Given the description of an element on the screen output the (x, y) to click on. 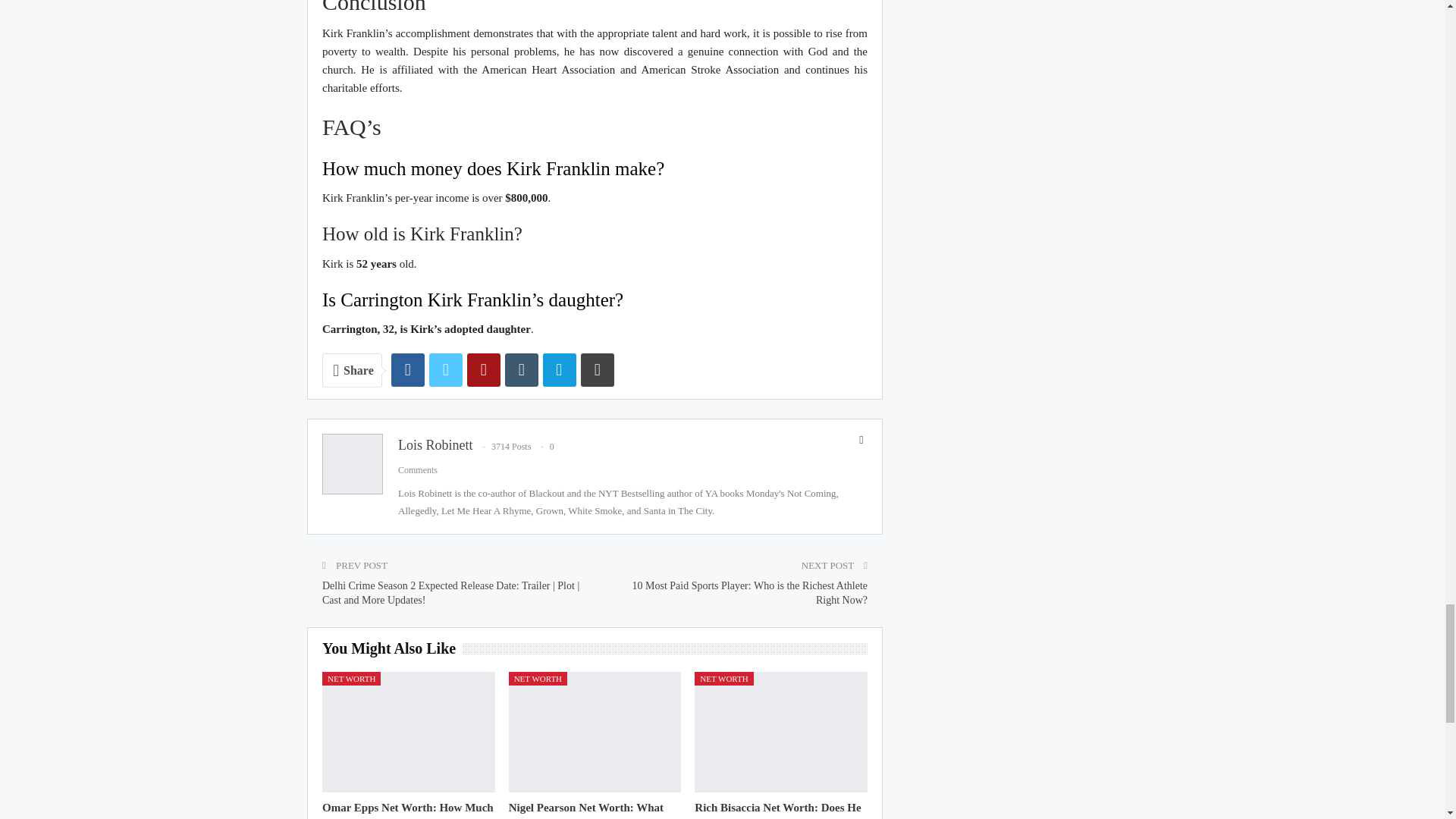
Nigel Pearson Net Worth: What Are His Source of Income? (585, 810)
Lois Robinett (435, 444)
Omar Epps Net Worth: How Much Money Does He Make? (407, 810)
Nigel Pearson Net Worth: What Are His Source of Income? (594, 731)
Omar Epps Net Worth: How Much Money Does He Make? (408, 731)
